Given the description of an element on the screen output the (x, y) to click on. 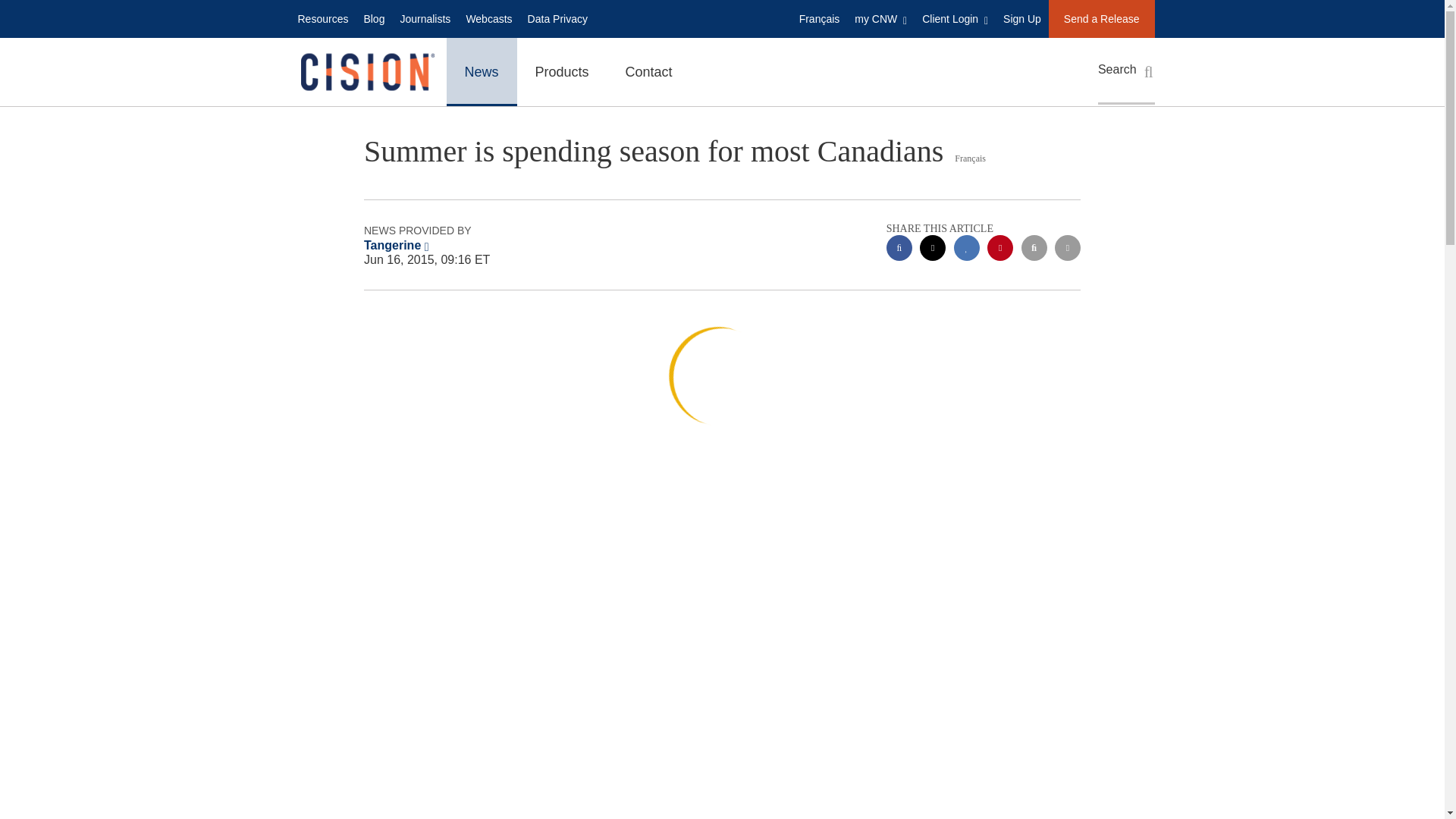
Webcasts (488, 18)
Blog (373, 18)
Contact (648, 71)
Products (561, 71)
Resources (322, 18)
Send a Release (1101, 18)
Journalists (424, 18)
Client Login  (954, 18)
Cision Canada (366, 71)
News (480, 71)
my CNW  (880, 18)
Sign Up (1021, 18)
Data Privacy (557, 18)
